Given the description of an element on the screen output the (x, y) to click on. 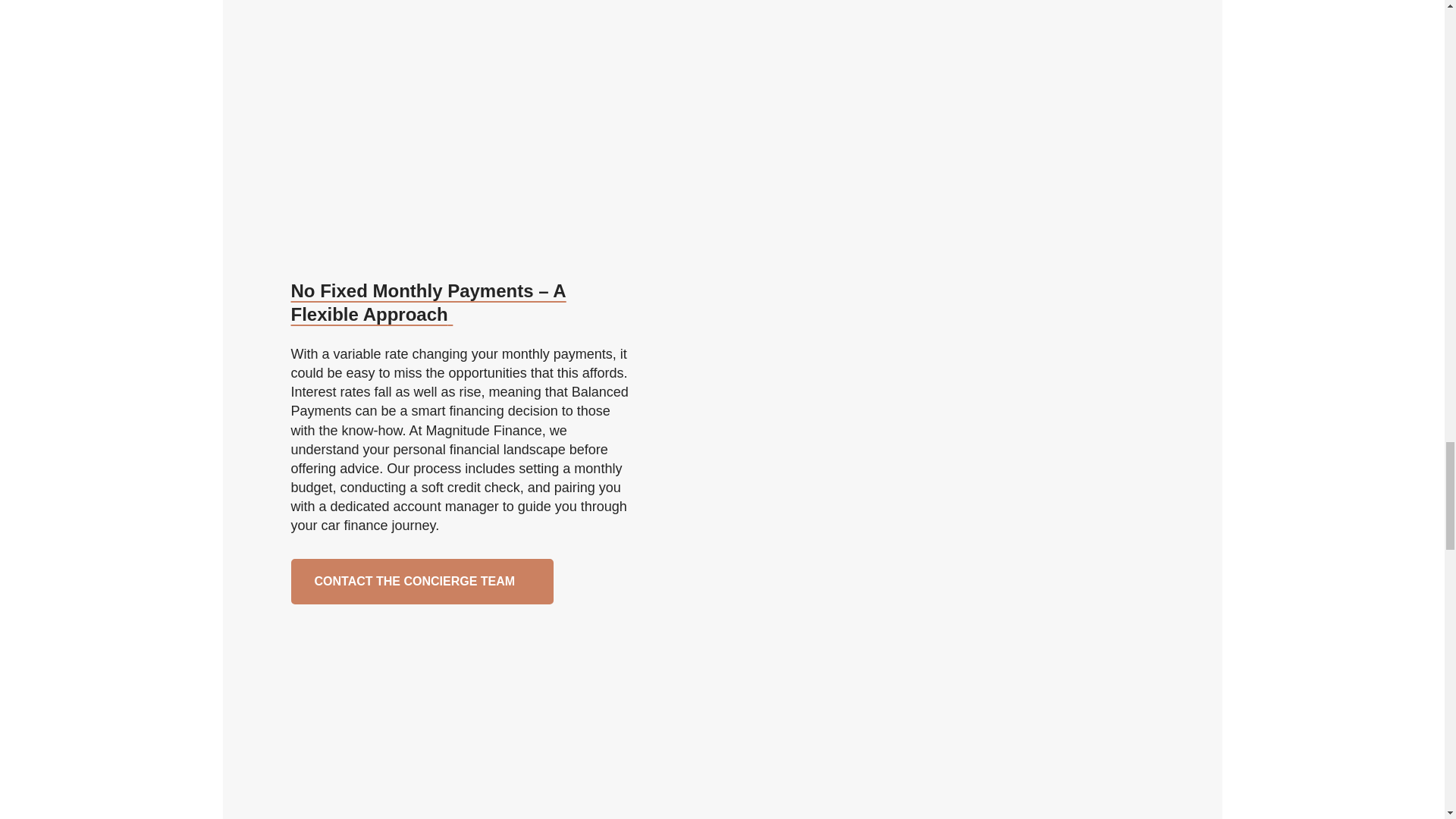
CONTACT THE CONCIERGE TEAM (422, 581)
